Given the description of an element on the screen output the (x, y) to click on. 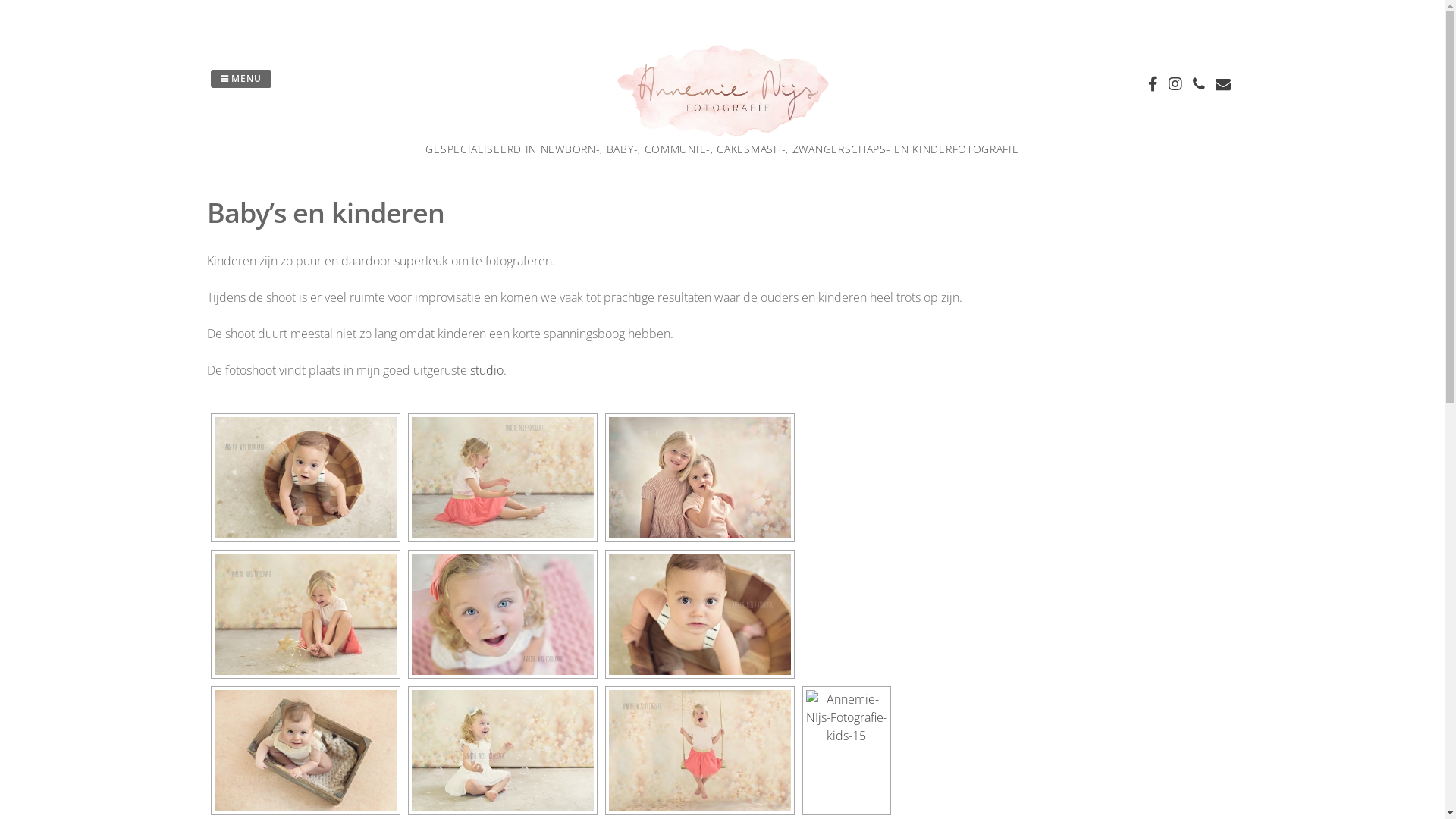
Annemie-NIjs-Fotografie-kids-12 Element type: hover (502, 477)
studio Element type: text (486, 369)
MENU Element type: text (240, 78)
Annemie-NIjs-Fotografie-kids-4 Element type: hover (304, 750)
Annemie-NIjs-Fotografie-kids-13 Element type: hover (502, 750)
Annemie-NIjs-Fotografie-kids-8 Element type: hover (502, 613)
Annemie Nijs Fotografie Element type: hover (721, 131)
Annemie-NIjs-Fotografie-kids-15 Element type: hover (845, 750)
Annemie-NIjs-Fotografie-kids-10 Element type: hover (304, 613)
Annemie-NIjs-Fotografie-kids-7 Element type: hover (699, 613)
Annemie-NIjs-Fotografie-kids-14 Element type: hover (699, 750)
Annemie-NIjs-Fotografie-kids-3 Element type: hover (304, 477)
Annemie-NIjs-Fotografie-kids-5 Element type: hover (699, 477)
